Given the description of an element on the screen output the (x, y) to click on. 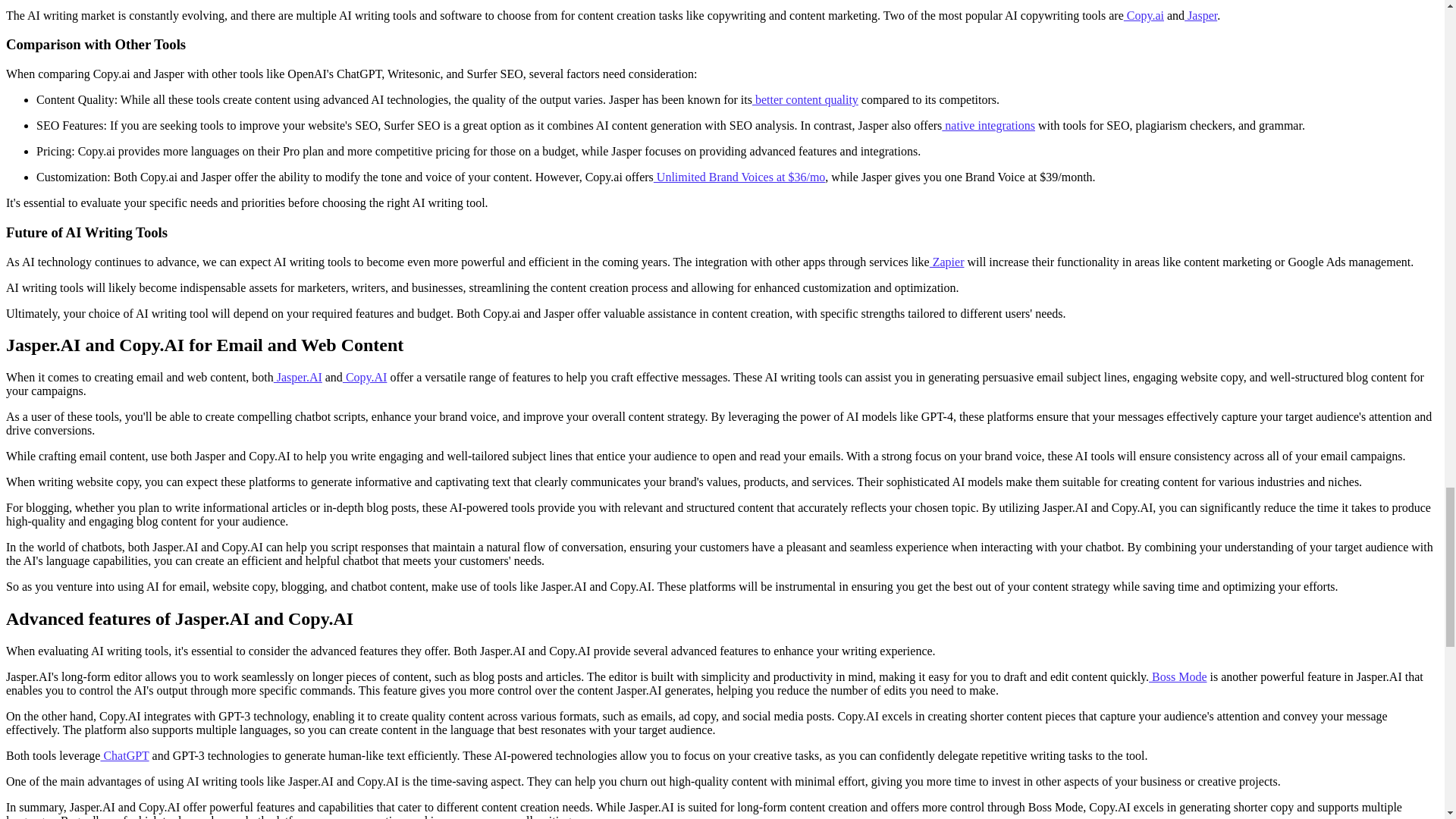
 Jasper (1201, 15)
 better content quality (805, 99)
 Copy.AI (364, 377)
 Boss Mode (1177, 676)
 Zapier (946, 261)
 ChatGPT (124, 755)
 Jasper.AI (297, 377)
 Copy.ai (1143, 15)
 native integrations (988, 124)
